Given the description of an element on the screen output the (x, y) to click on. 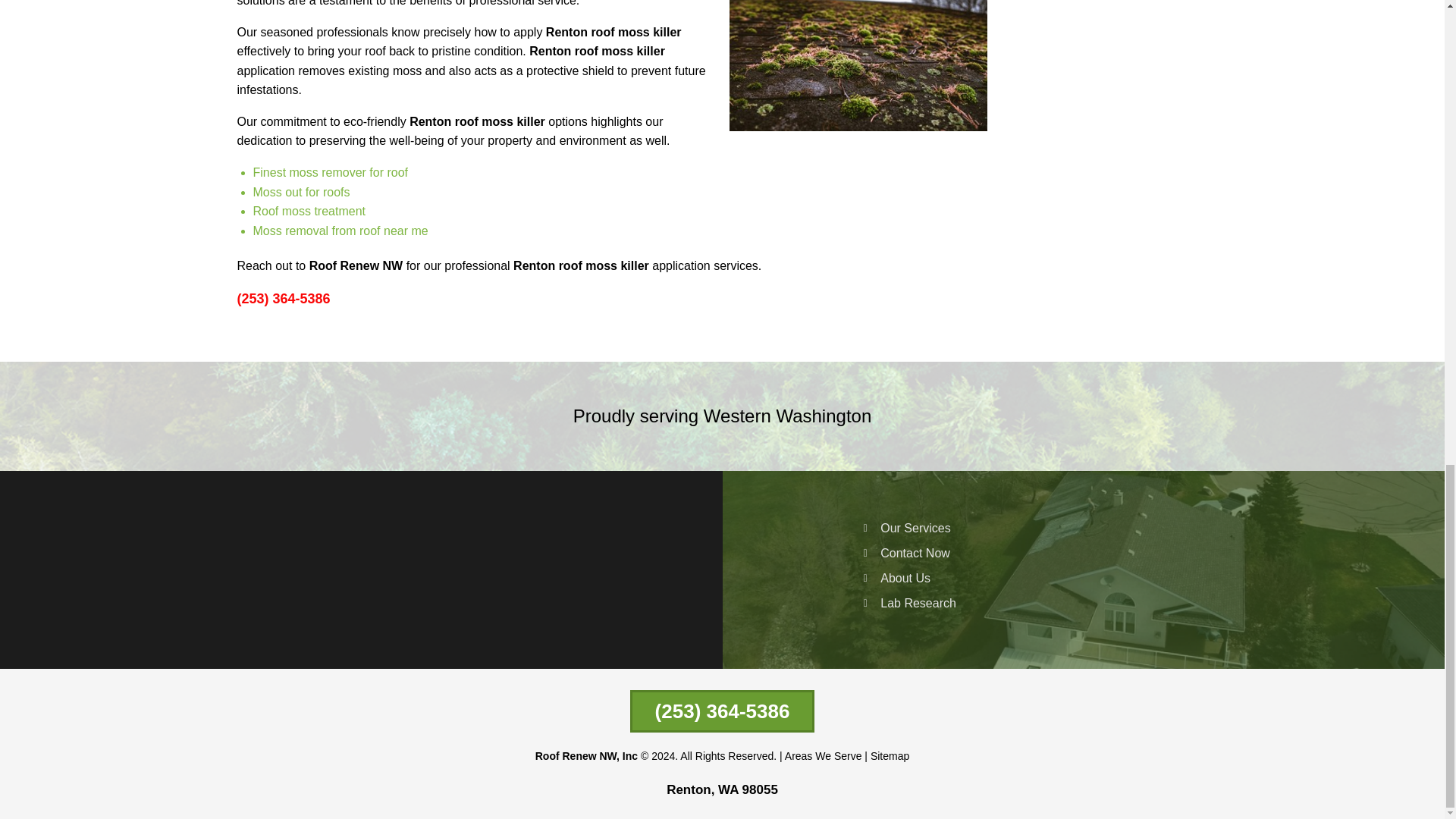
Renton Roof Moss Killer (857, 67)
